Given the description of an element on the screen output the (x, y) to click on. 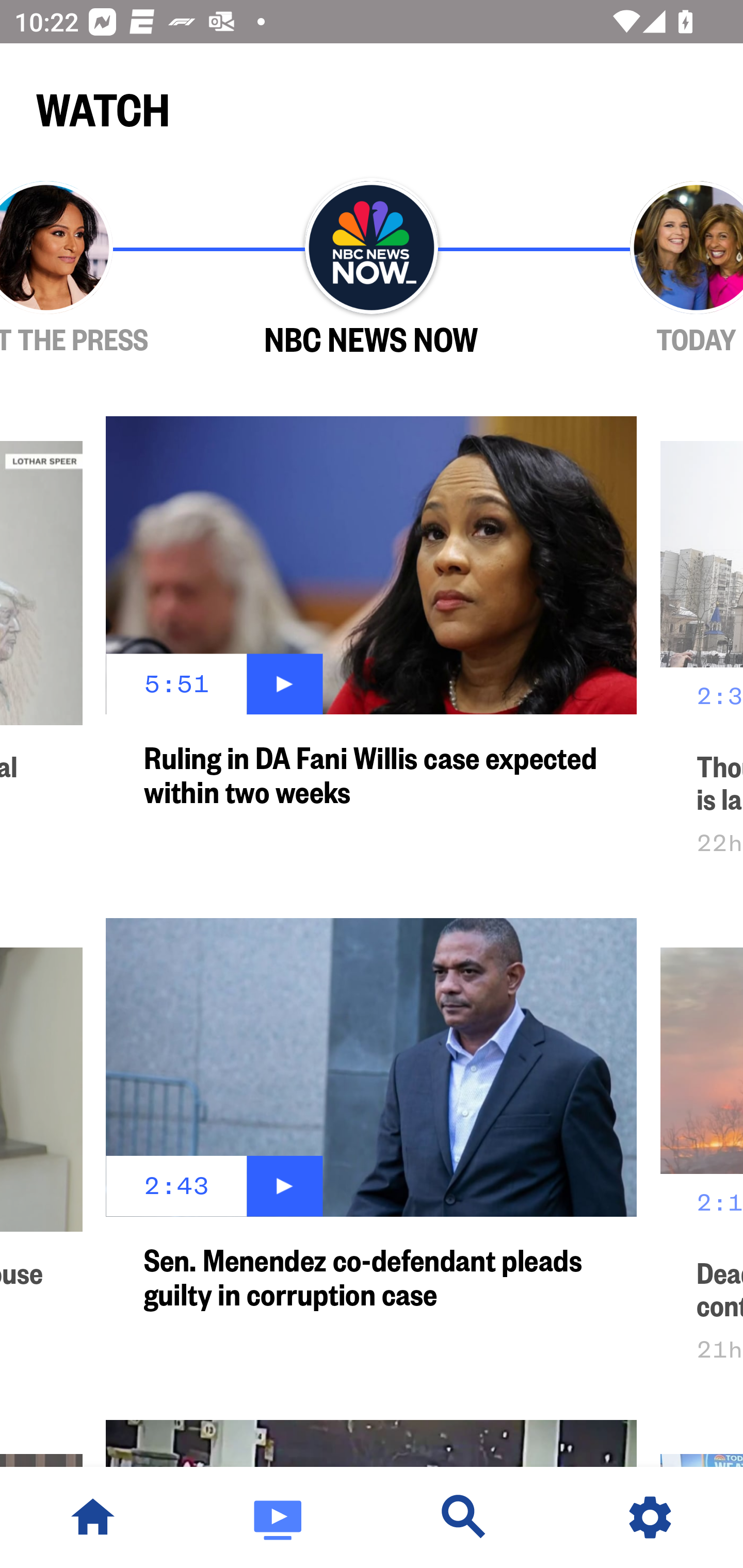
MEET THE PRESS (104, 268)
NBC NEWS NOW (371, 268)
TODAY (638, 268)
NBC News Home (92, 1517)
Discover (464, 1517)
Settings (650, 1517)
